Given the description of an element on the screen output the (x, y) to click on. 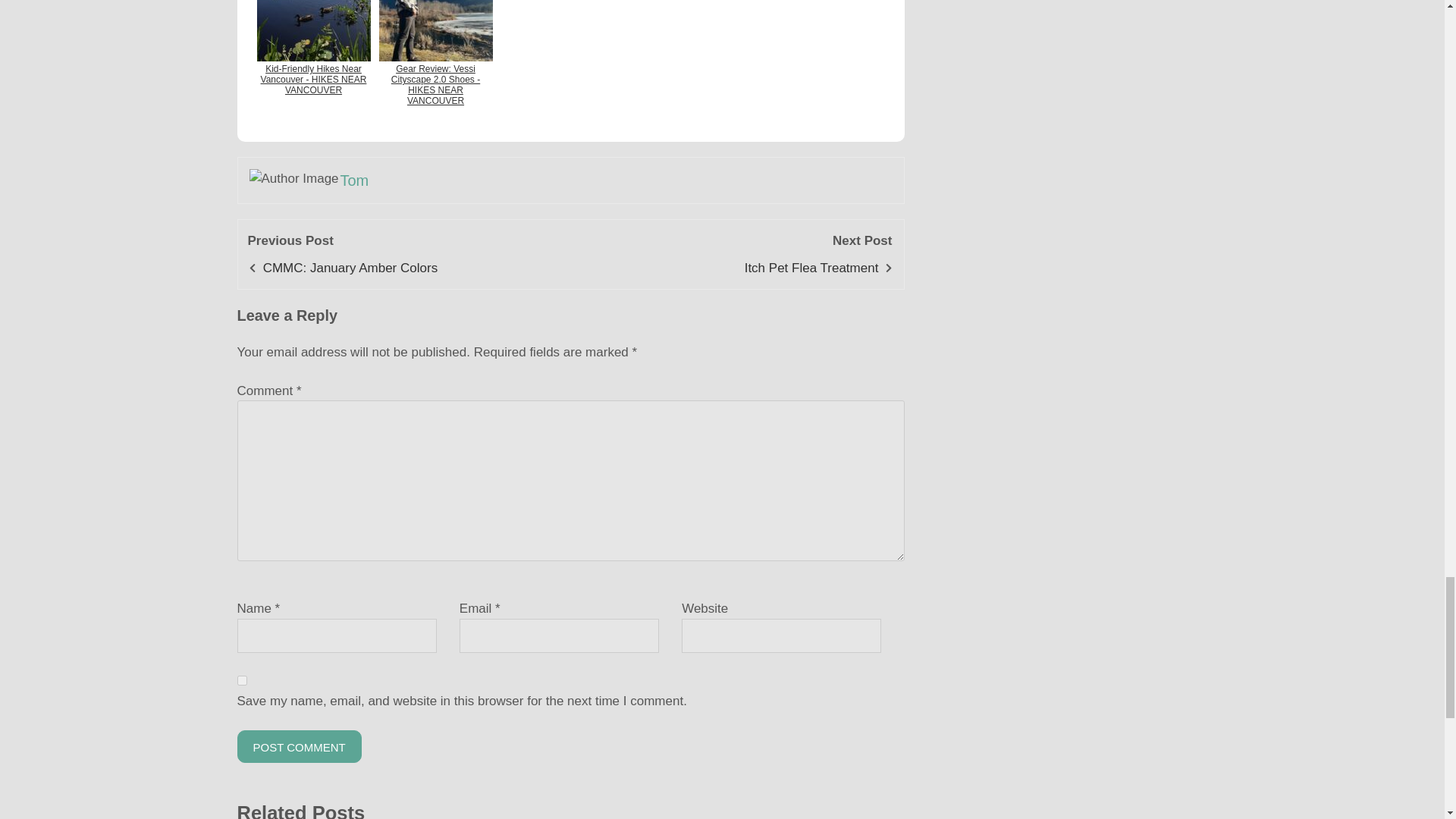
Kid-Friendly Hikes Near Vancouver - HIKES NEAR VANCOUVER (312, 61)
yes (240, 680)
Post Comment (298, 746)
CMMC: January Amber Colors (350, 268)
Author Image (293, 178)
